Given the description of an element on the screen output the (x, y) to click on. 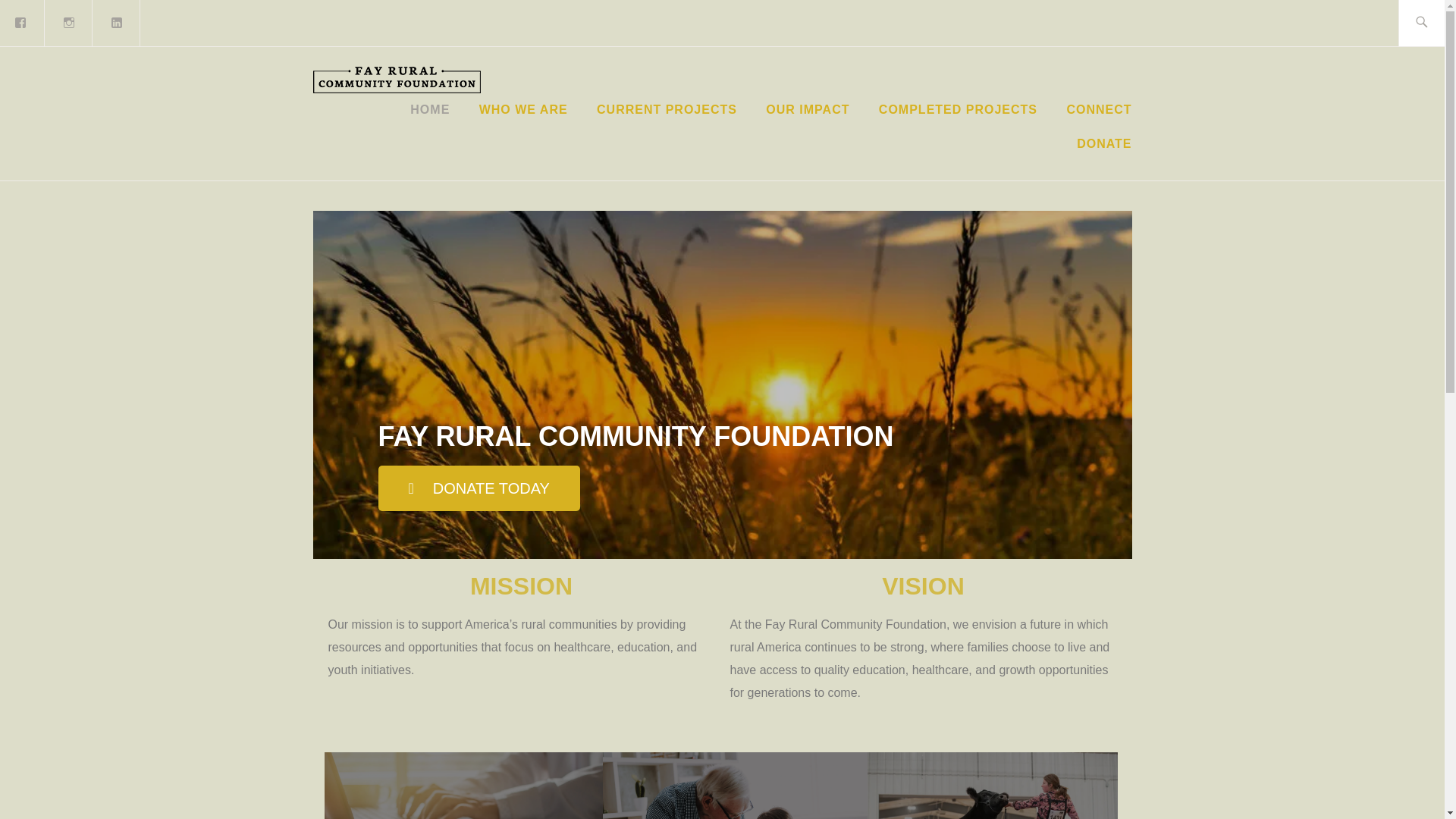
Search (47, 22)
WHO WE ARE (523, 109)
CURRENT PROJECTS (666, 109)
DONATE (1104, 143)
CONNECT (1098, 109)
OUR IMPACT (806, 109)
HOME (429, 109)
FRCF (542, 103)
COMPLETED PROJECTS (957, 109)
DONATE TODAY (478, 488)
